Given the description of an element on the screen output the (x, y) to click on. 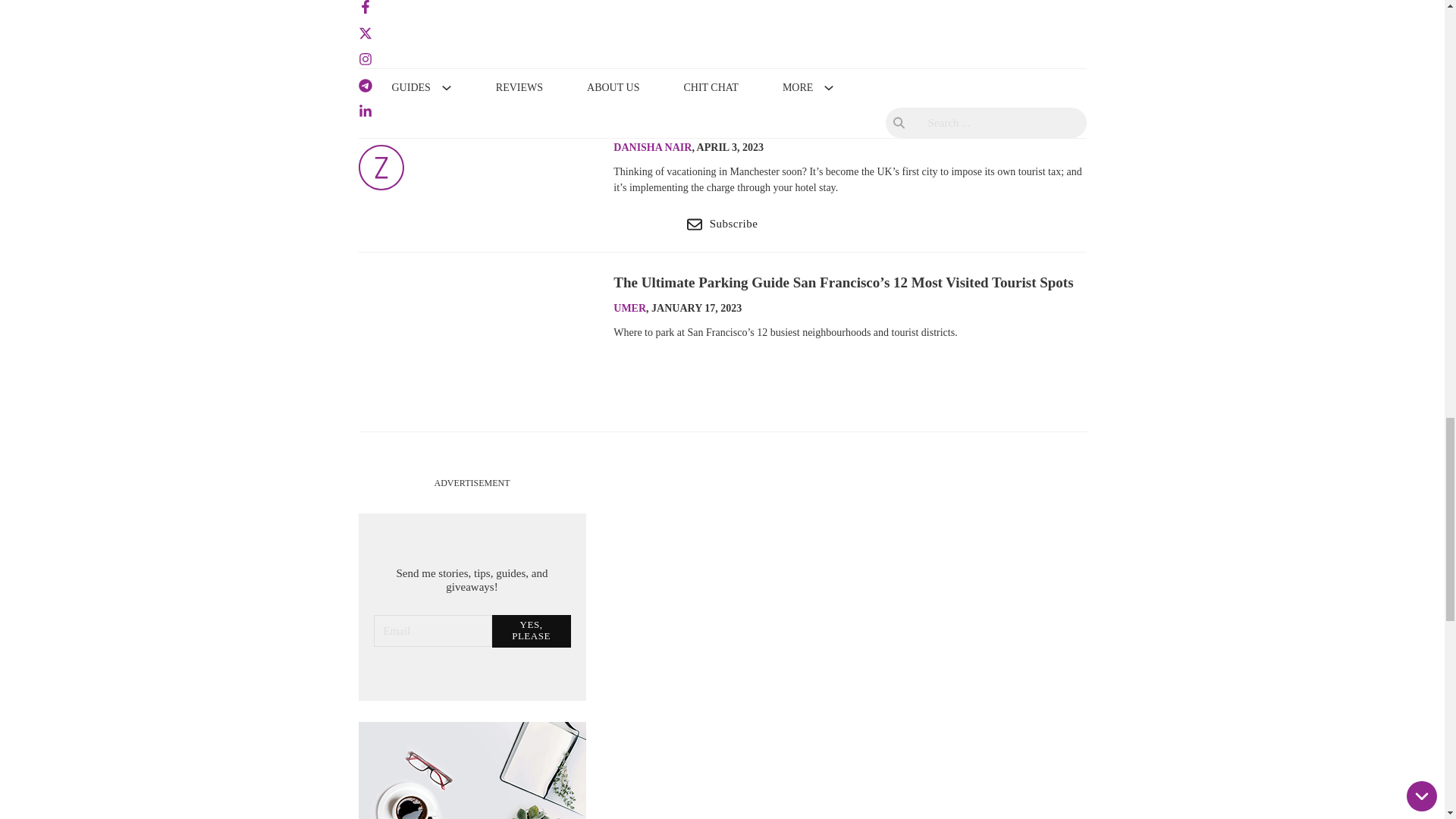
Posts by Danisha Nair (651, 147)
Posts by Umer (629, 307)
